Given the description of an element on the screen output the (x, y) to click on. 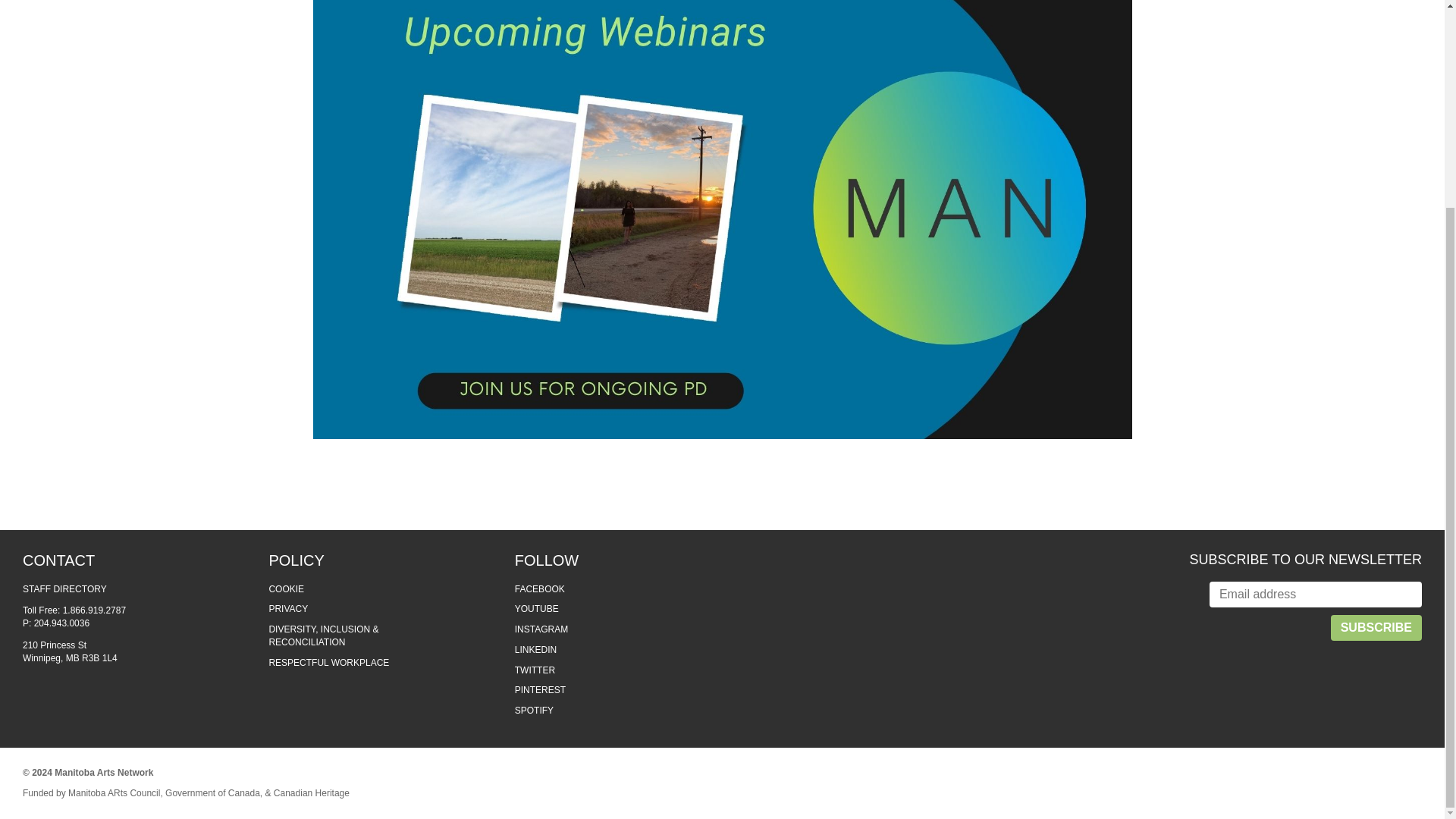
Subscribe (1376, 627)
